Given the description of an element on the screen output the (x, y) to click on. 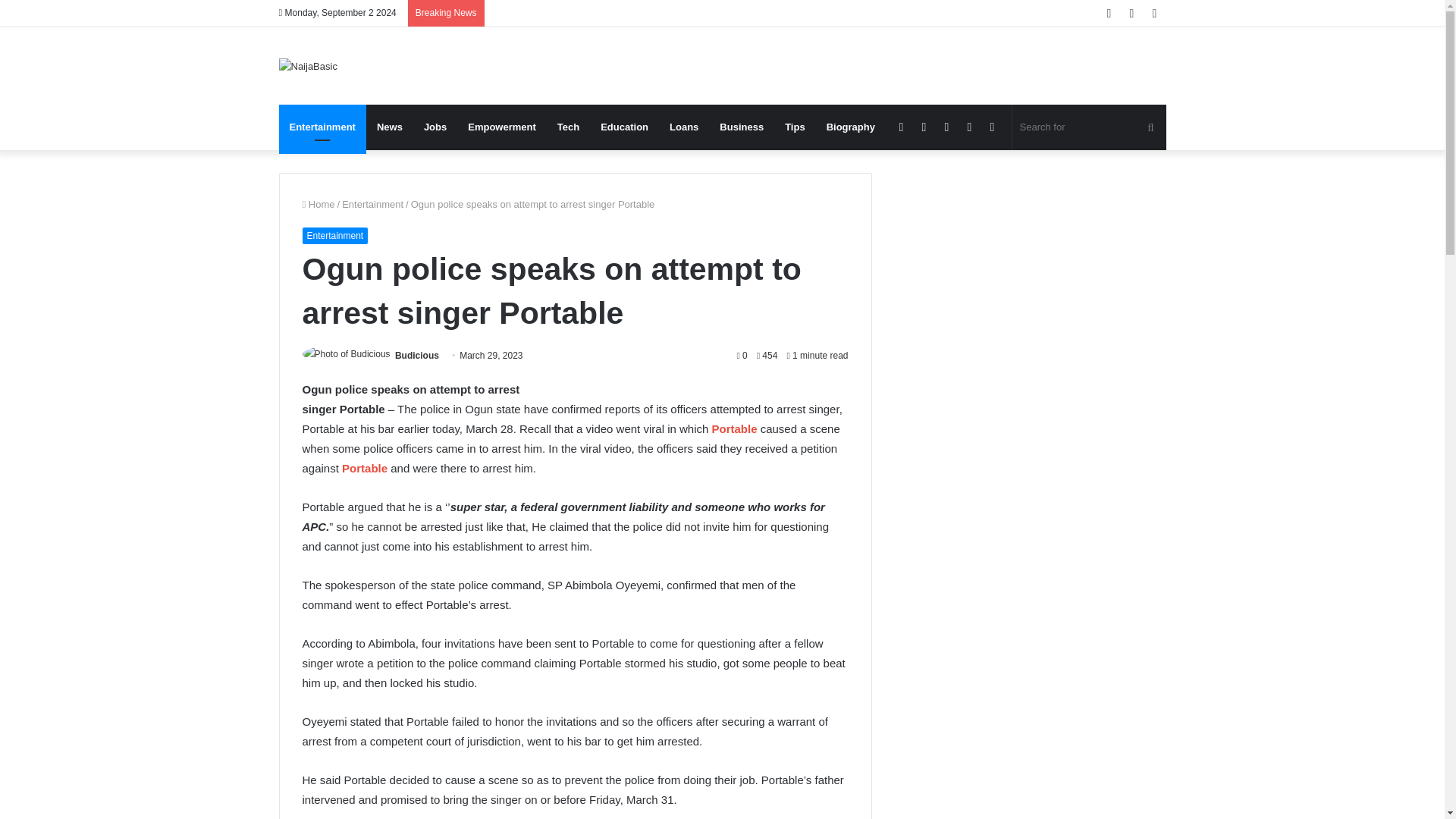
Tech (568, 126)
Portable (364, 468)
Entertainment (334, 235)
Loans (684, 126)
Home (317, 204)
Budicious (416, 355)
Portable (734, 428)
Education (624, 126)
Jobs (435, 126)
Biography (850, 126)
